Given the description of an element on the screen output the (x, y) to click on. 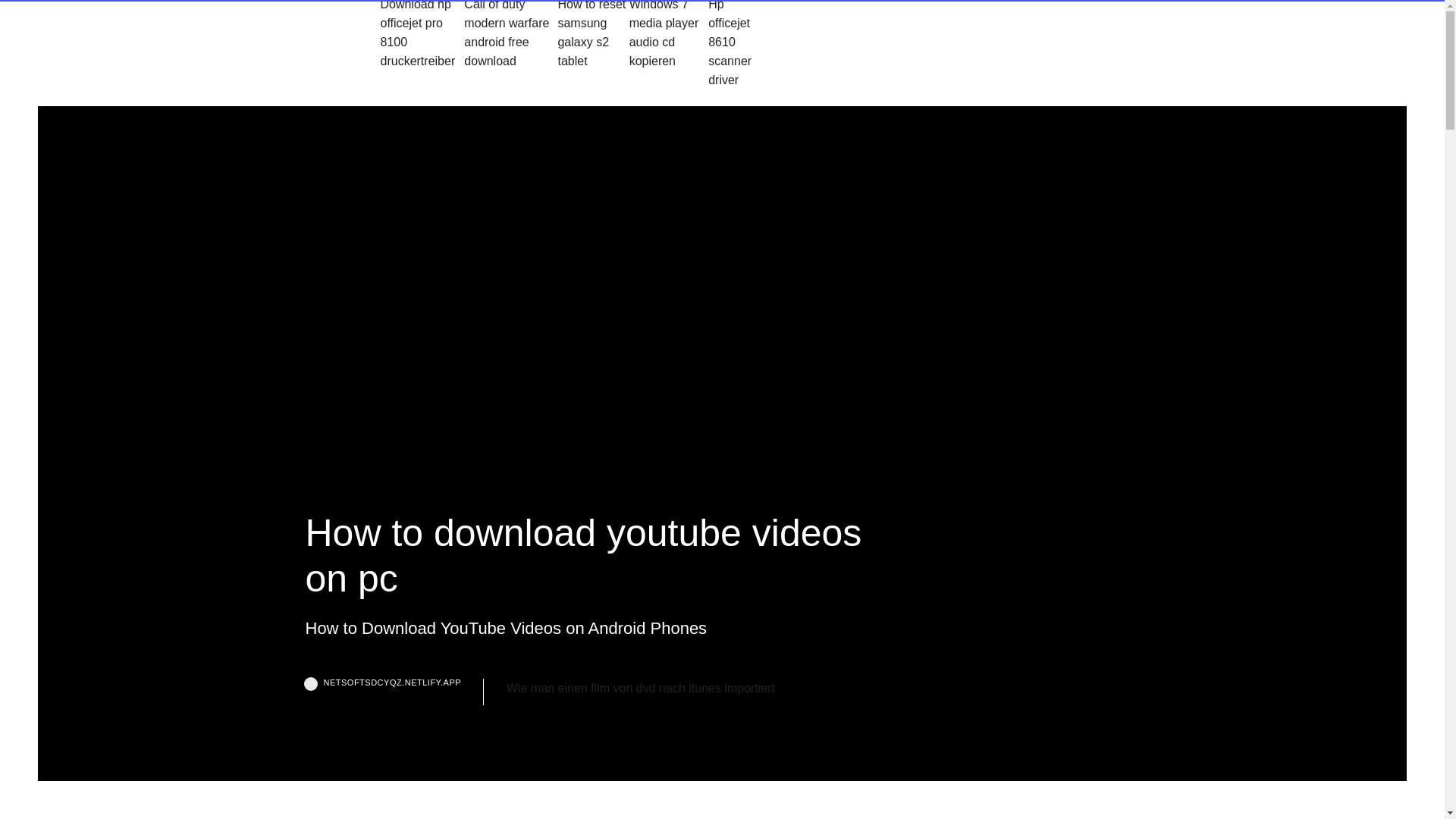
Windows 7 media player audio cd kopieren (668, 44)
NETSOFTSDCYQZ.NETLIFY.APP (393, 691)
Call of duty modern warfare android free download (510, 44)
Wie man einen film von dvd nach itunes importiert (640, 687)
Download hp officejet pro 8100 druckertreiber (422, 44)
